Given the description of an element on the screen output the (x, y) to click on. 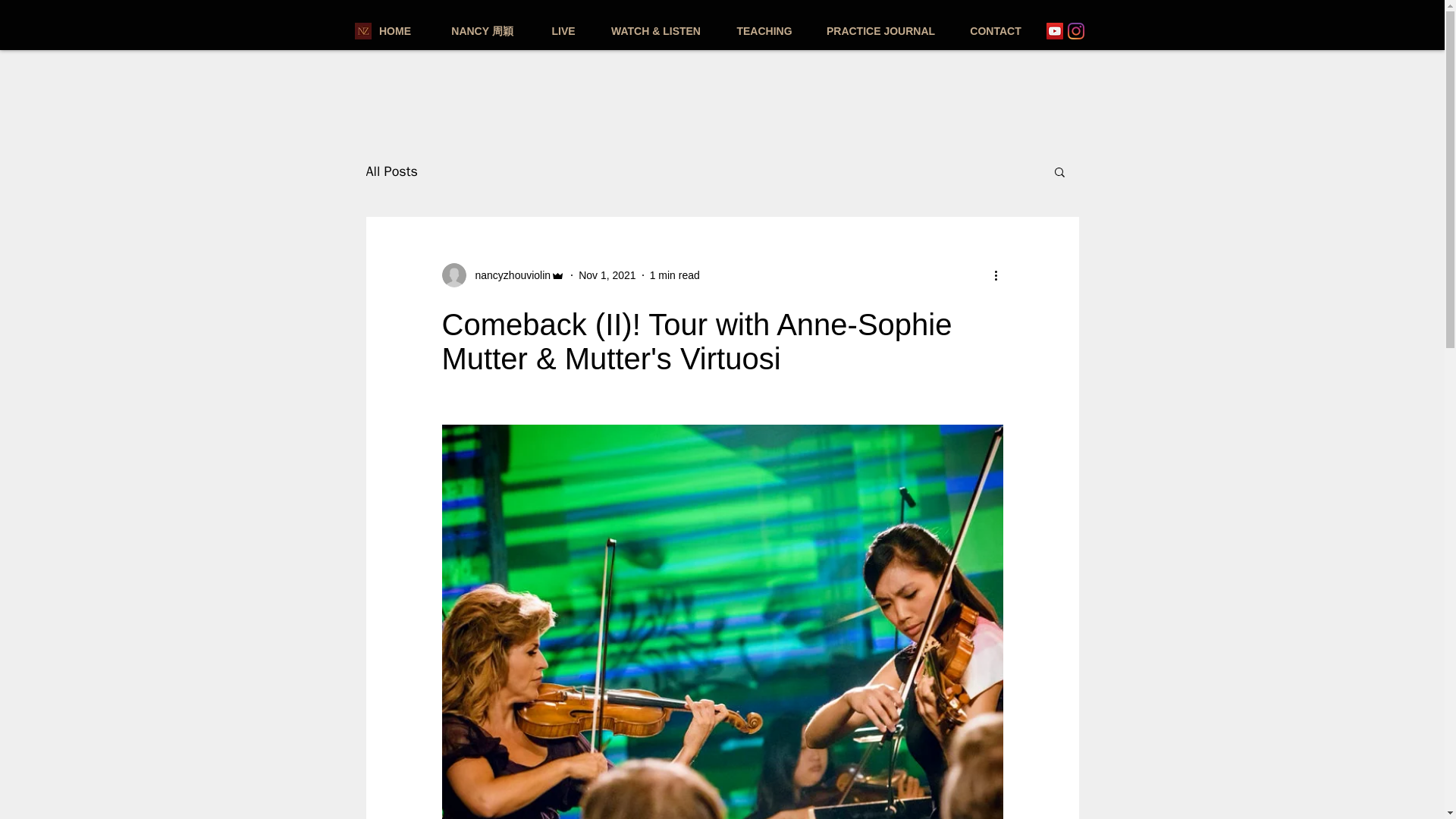
All Posts (390, 171)
nancyzhouviolin (502, 274)
CONTACT (995, 30)
LIVE (563, 30)
1 min read (674, 274)
HOME (394, 30)
Nov 1, 2021 (607, 274)
PRACTICE JOURNAL (880, 30)
nancyzhouviolin (507, 274)
TEACHING (763, 30)
